Given the description of an element on the screen output the (x, y) to click on. 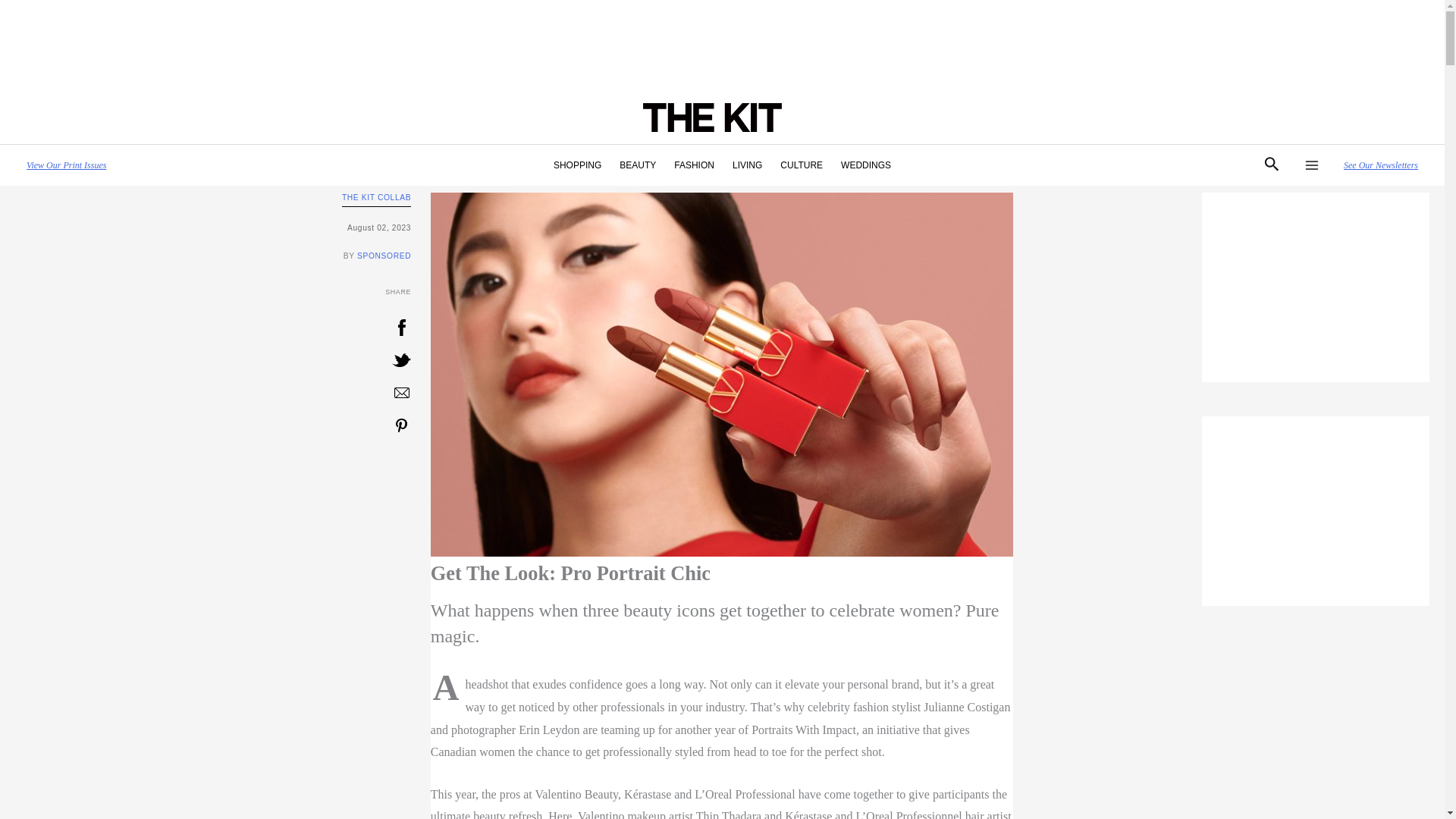
View Our Print Issues (66, 164)
BEAUTY (637, 164)
August 02, 2023 (212, 227)
SHOPPING (577, 164)
FASHION (694, 164)
